Given the description of an element on the screen output the (x, y) to click on. 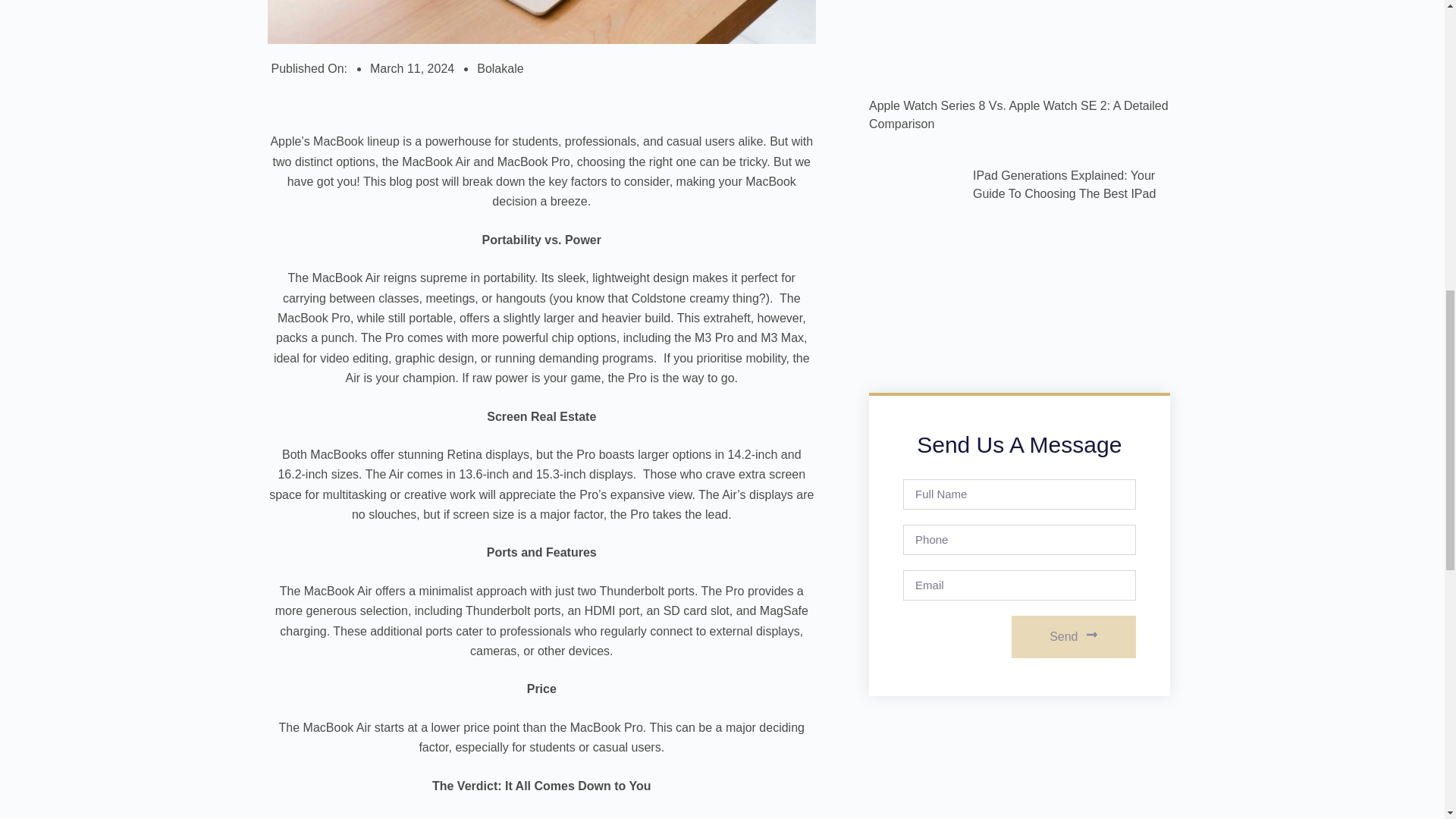
Bolakale (499, 68)
March 11, 2024 (411, 68)
Send (1073, 636)
